Given the description of an element on the screen output the (x, y) to click on. 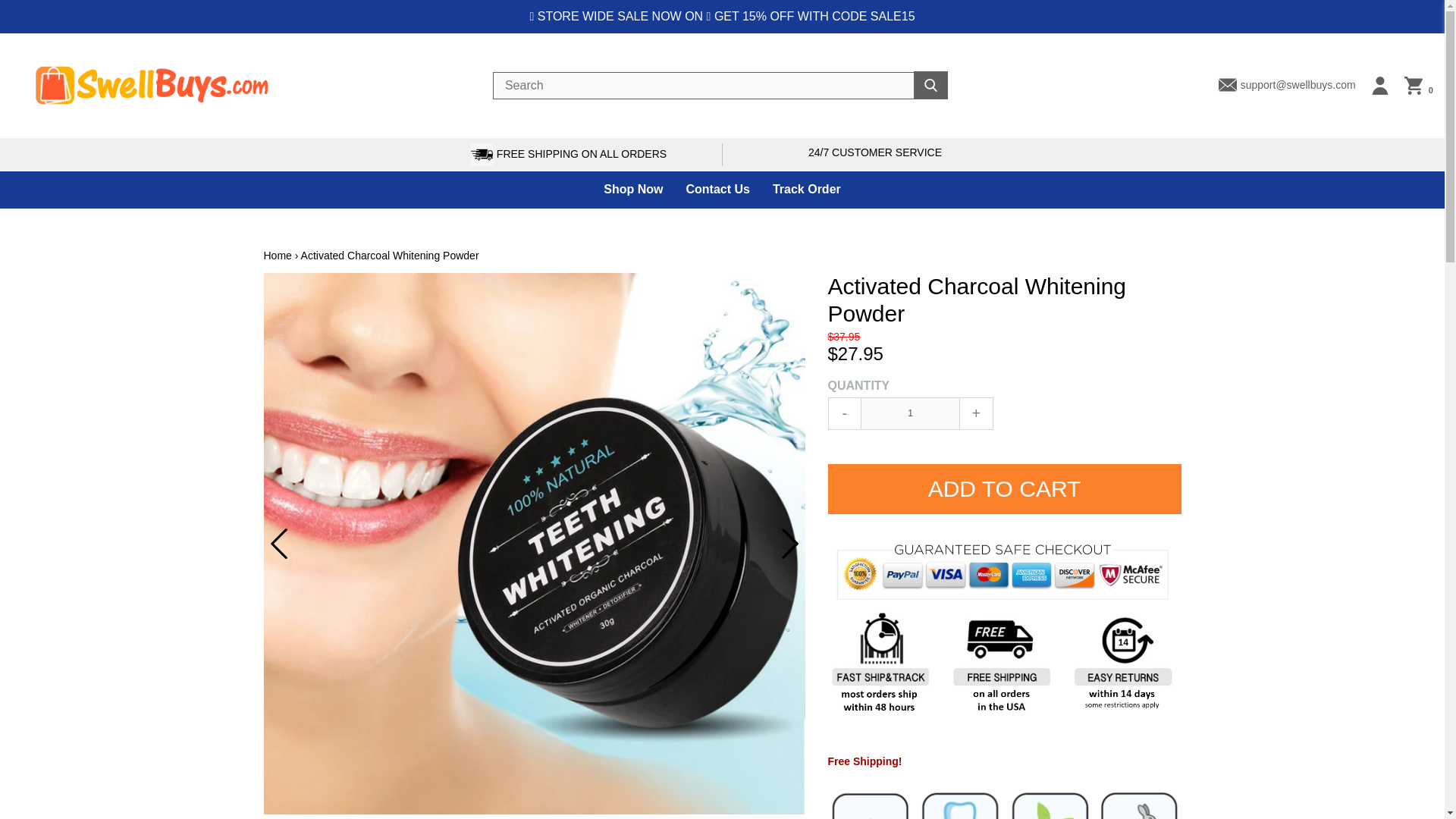
Home (277, 255)
- (844, 413)
Contact Us (717, 189)
ADD TO CART (1004, 489)
Home (277, 255)
Track Order (806, 189)
0 (1418, 85)
Shop Now (633, 189)
1 (909, 413)
